Given the description of an element on the screen output the (x, y) to click on. 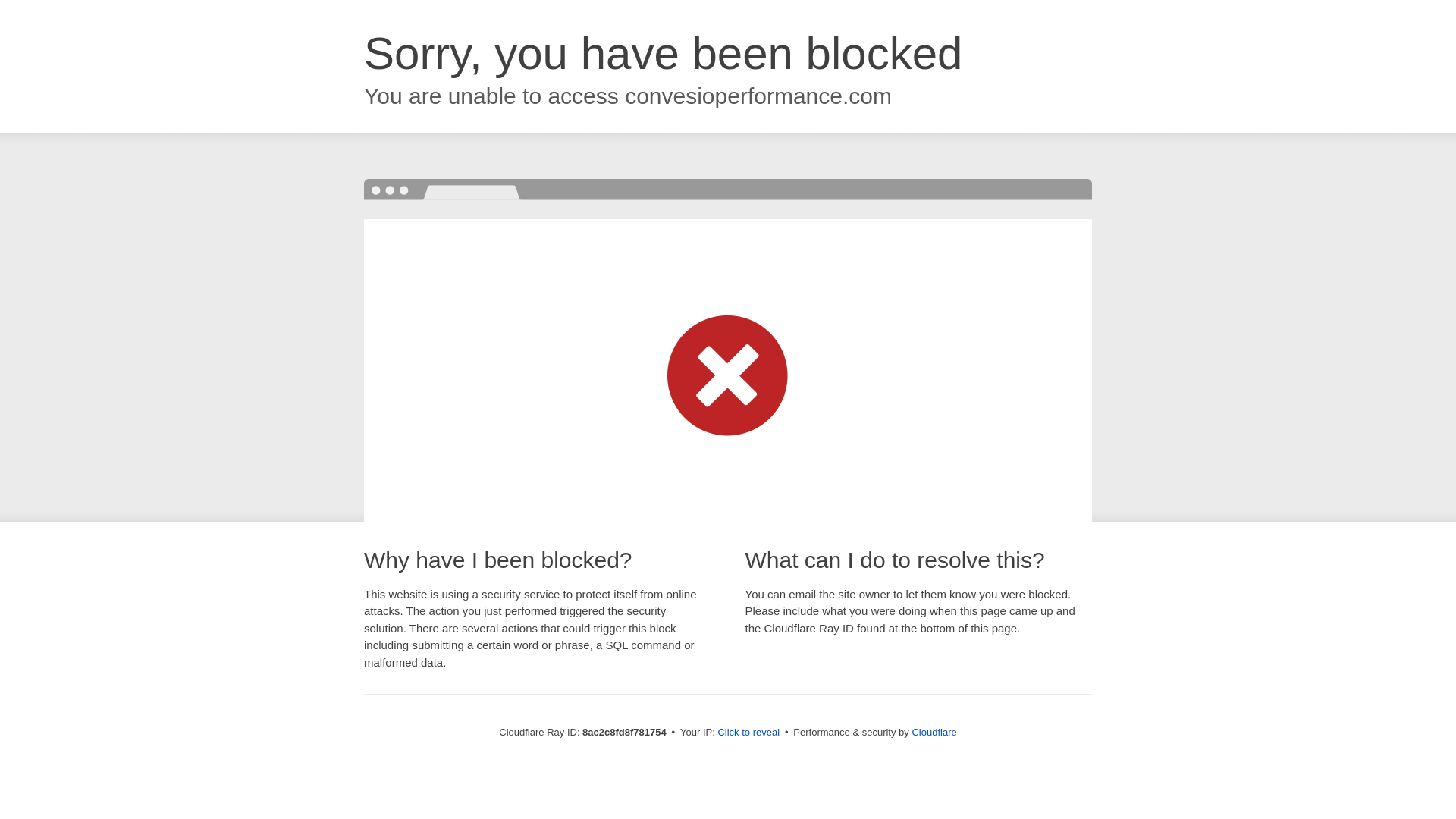
Cloudflare (933, 731)
Click to reveal (747, 732)
